Given the description of an element on the screen output the (x, y) to click on. 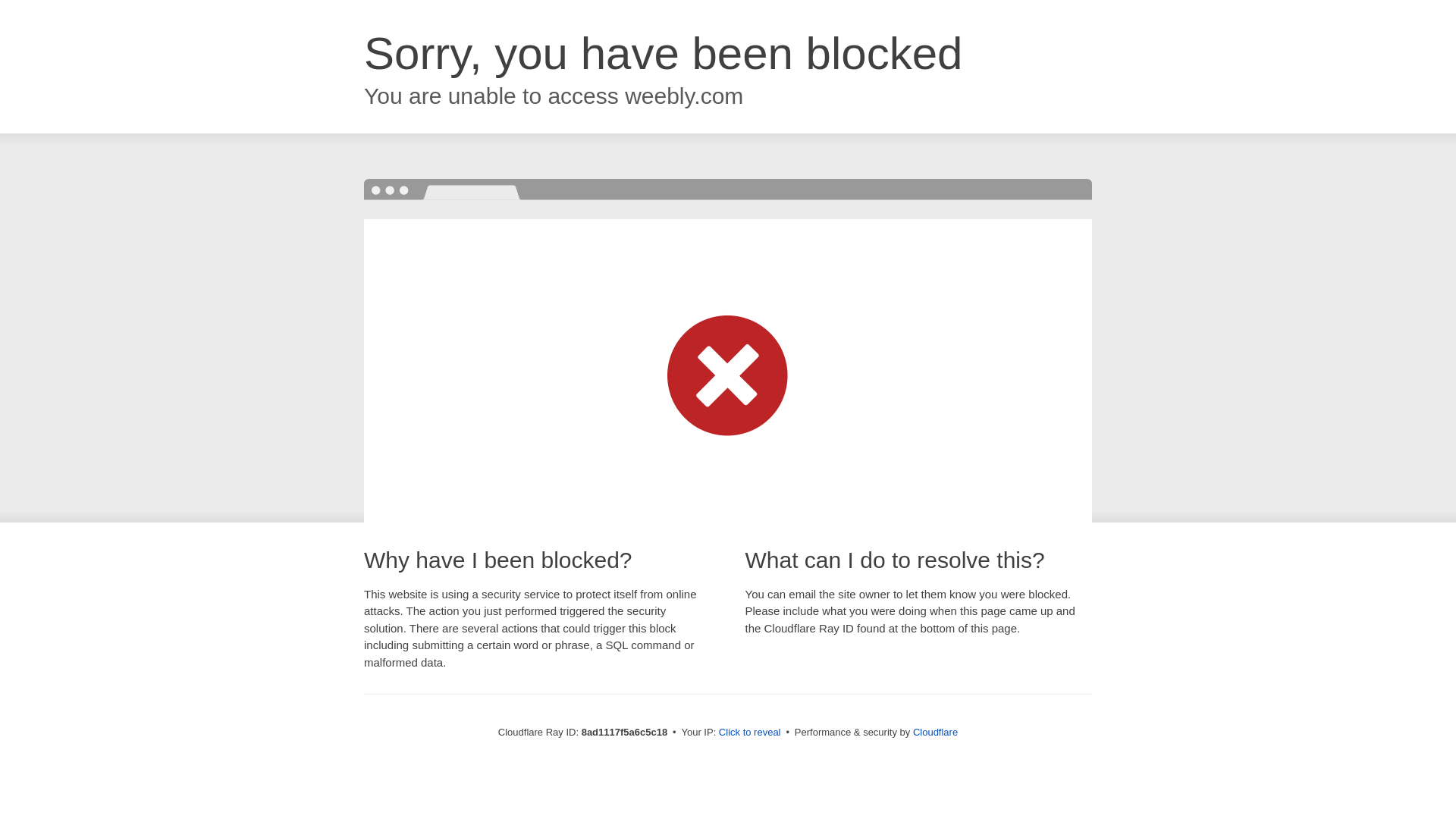
Cloudflare (935, 731)
Click to reveal (749, 732)
